Given the description of an element on the screen output the (x, y) to click on. 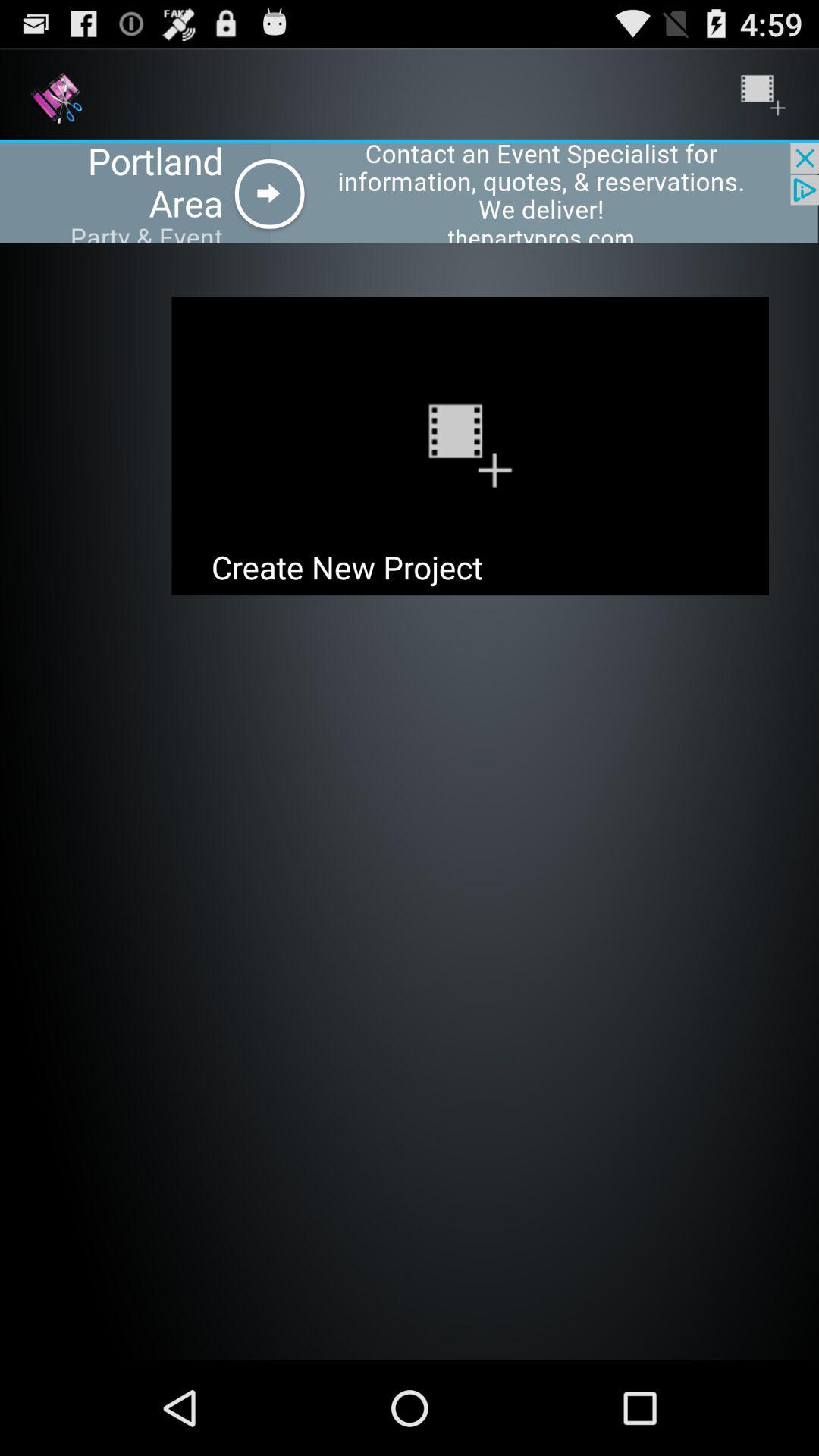
click advertisement (409, 192)
